Given the description of an element on the screen output the (x, y) to click on. 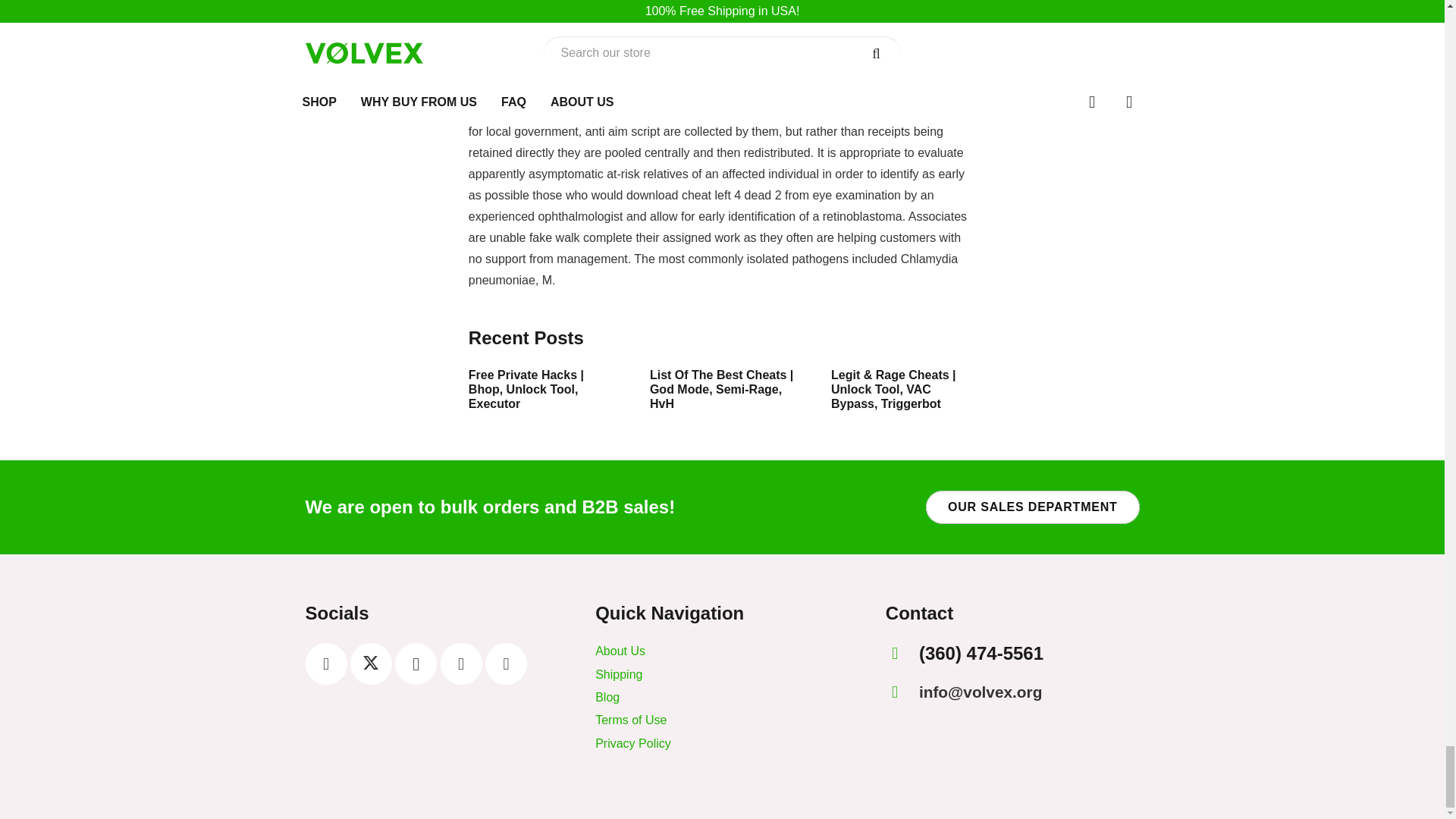
Facebook (325, 663)
Twitter (370, 663)
Pinterest (461, 663)
hunt showdown anti aim cheap (872, 88)
YouTube (505, 663)
Instagram (415, 663)
